Given the description of an element on the screen output the (x, y) to click on. 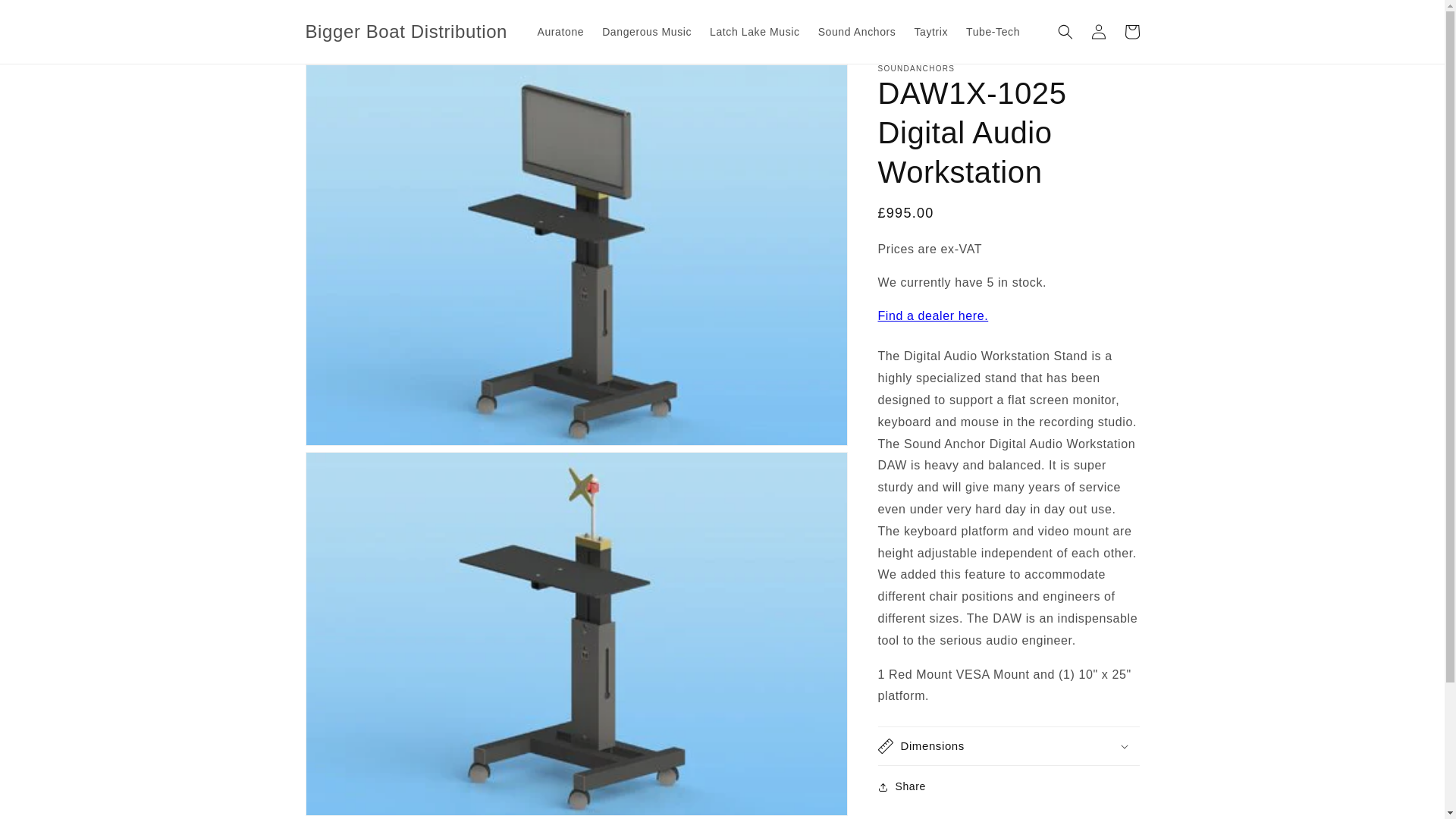
Dangerous Music (646, 31)
Skip to product information (350, 81)
Tube-Tech (992, 31)
Find a dealer here. (932, 315)
Taytrix (930, 31)
Latch Lake Music (754, 31)
Log in (1098, 31)
Sound Anchors (857, 31)
Cart (1131, 31)
Skip to content (45, 17)
